Given the description of an element on the screen output the (x, y) to click on. 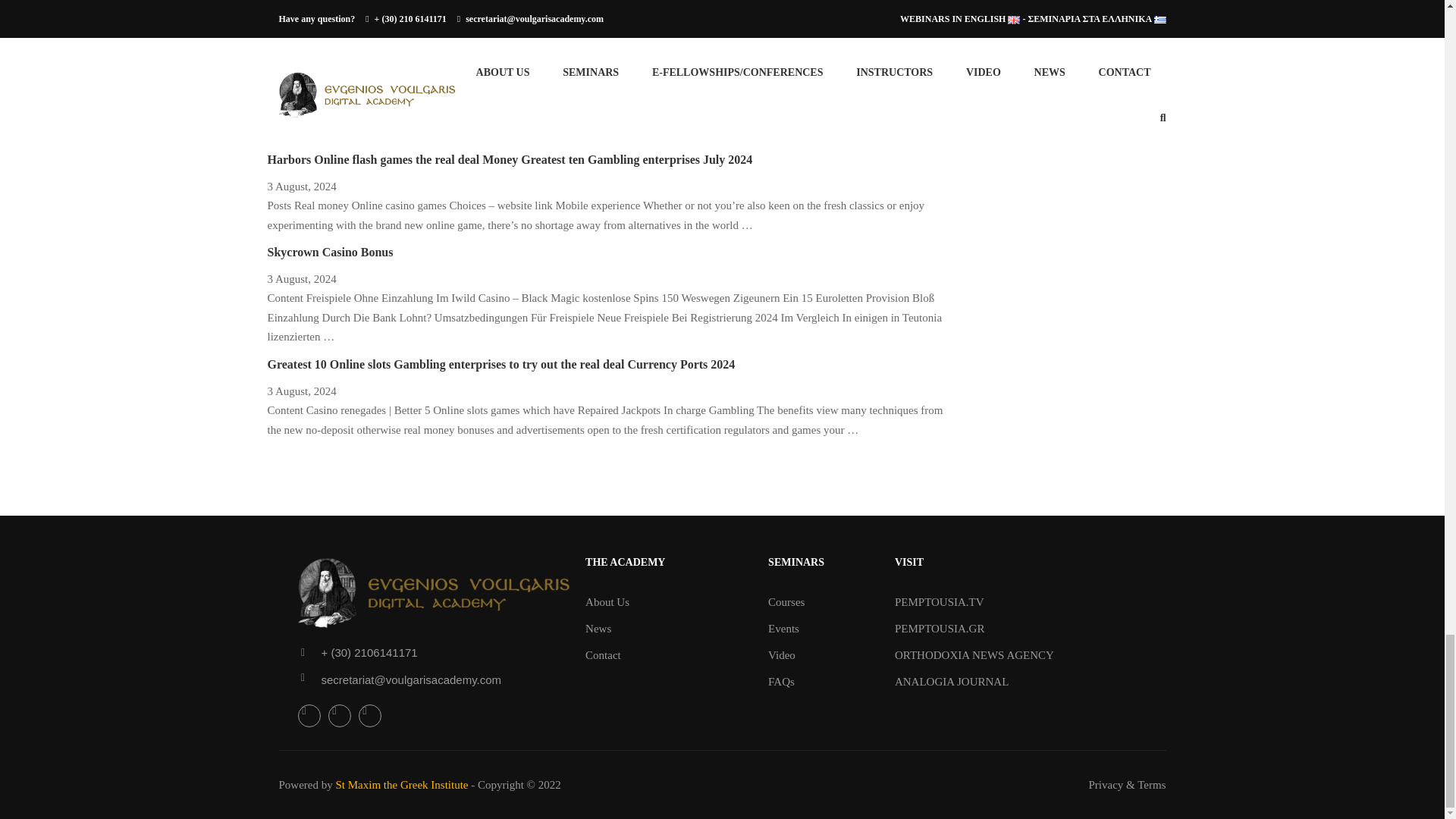
Skycrown Casino Bonus (329, 251)
Skycrown Casino Bonus (329, 251)
